Given the description of an element on the screen output the (x, y) to click on. 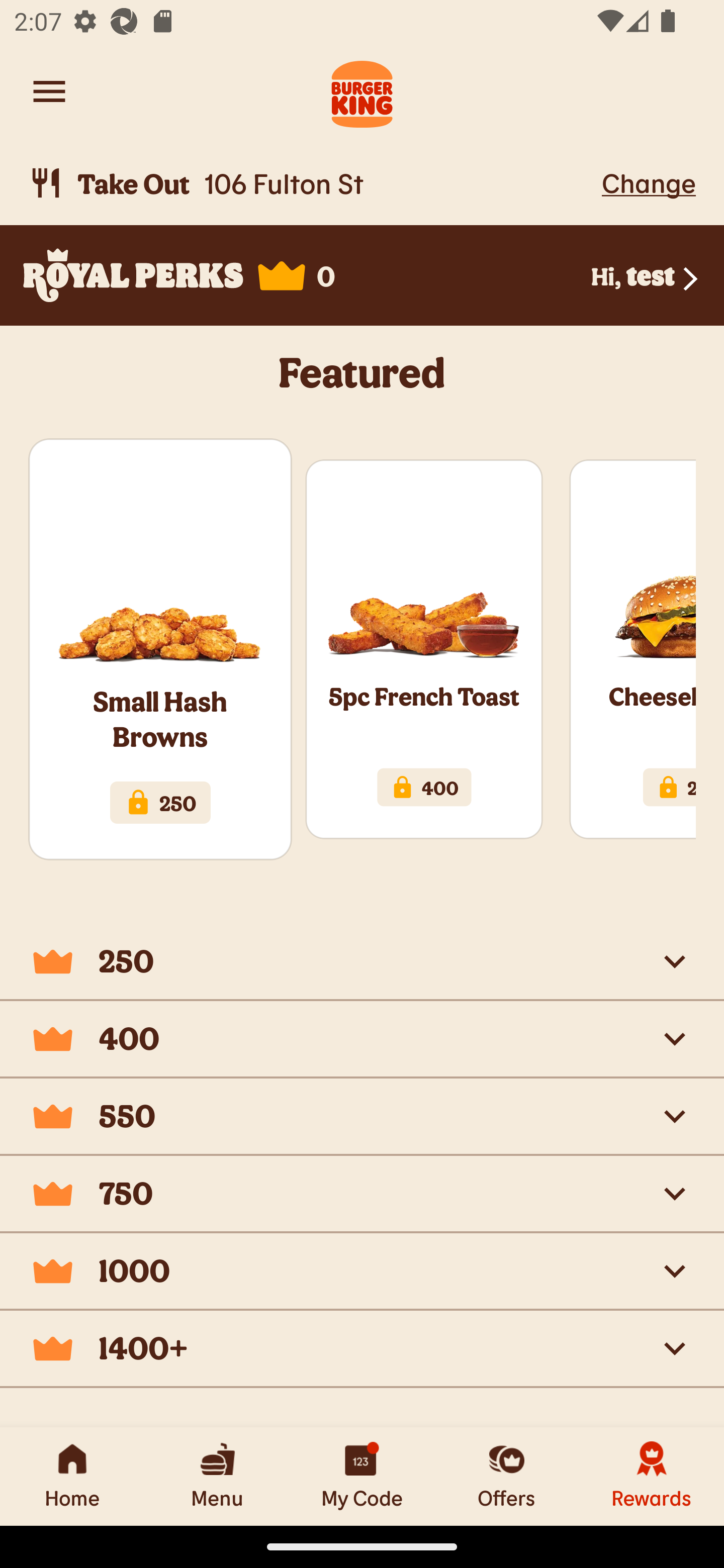
Burger King Logo. Navigate to Home (362, 91)
Navigate to account menu  (49, 91)
Take Out, 106 Fulton St  Take Out 106 Fulton St (311, 183)
Change (648, 182)
Home (72, 1475)
Menu (216, 1475)
My Code (361, 1475)
Offers (506, 1475)
Rewards (651, 1475)
